Given the description of an element on the screen output the (x, y) to click on. 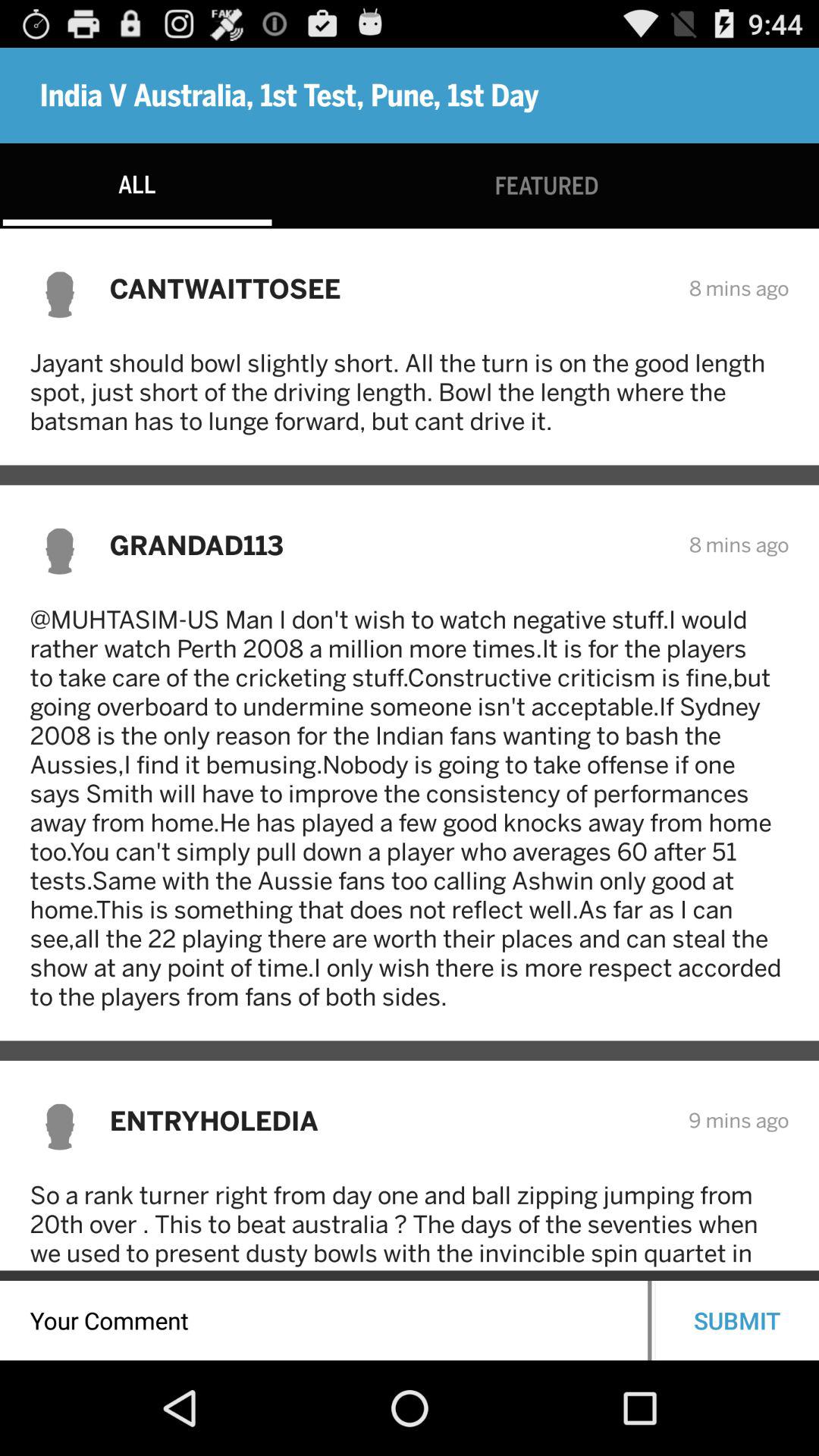
jump to the so a rank (409, 1225)
